Given the description of an element on the screen output the (x, y) to click on. 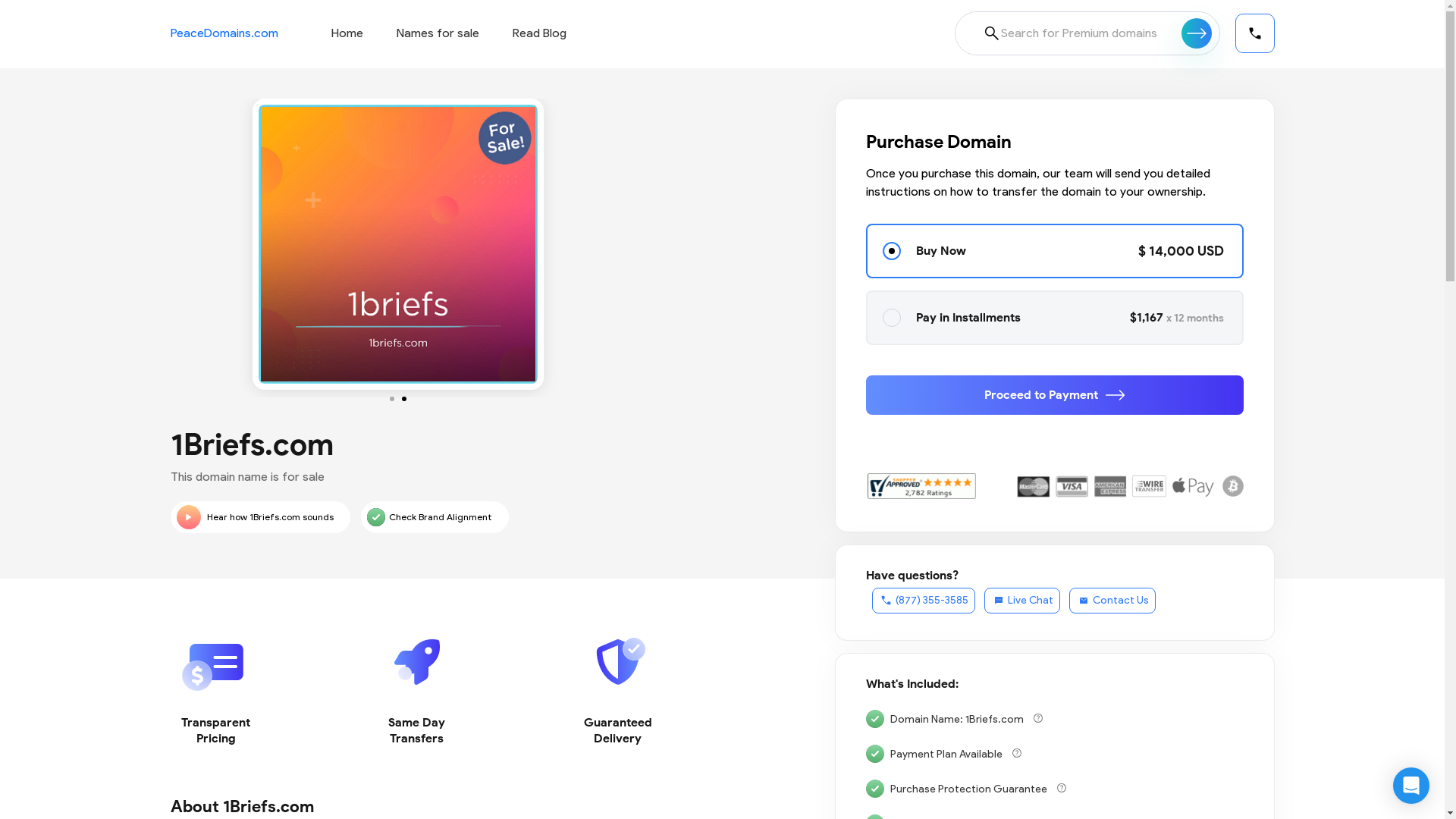
Names for sale Element type: text (436, 33)
Proceed to Payment Element type: text (1054, 394)
Live Chat Element type: text (1022, 600)
Check Brand Alignment Element type: text (434, 517)
Home Element type: text (346, 33)
Buy Now
$ 14,000 USD Element type: text (1054, 250)
Read Blog Element type: text (539, 33)
PeaceDomains.com Element type: text (223, 33)
Hear how 1Briefs.com sounds Element type: text (259, 517)
Contact Us Element type: text (1112, 600)
(877) 355-3585 Element type: text (923, 600)
